Given the description of an element on the screen output the (x, y) to click on. 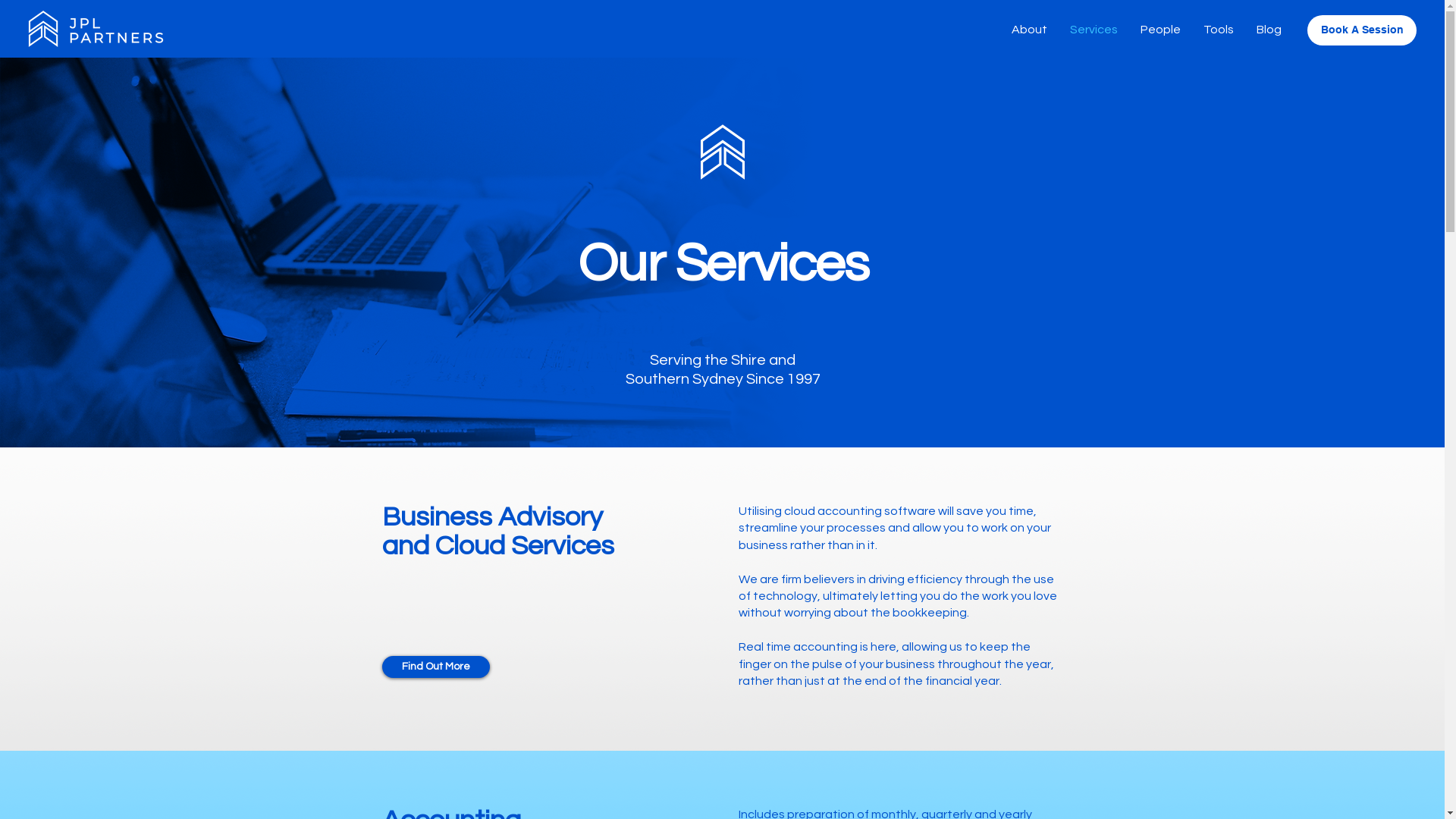
Tools Element type: text (1218, 29)
About Element type: text (1029, 29)
Book A Session Element type: text (1361, 30)
Find Out More Element type: text (435, 666)
People Element type: text (1160, 29)
Blog Element type: text (1268, 29)
Services Element type: text (1093, 29)
